Given the description of an element on the screen output the (x, y) to click on. 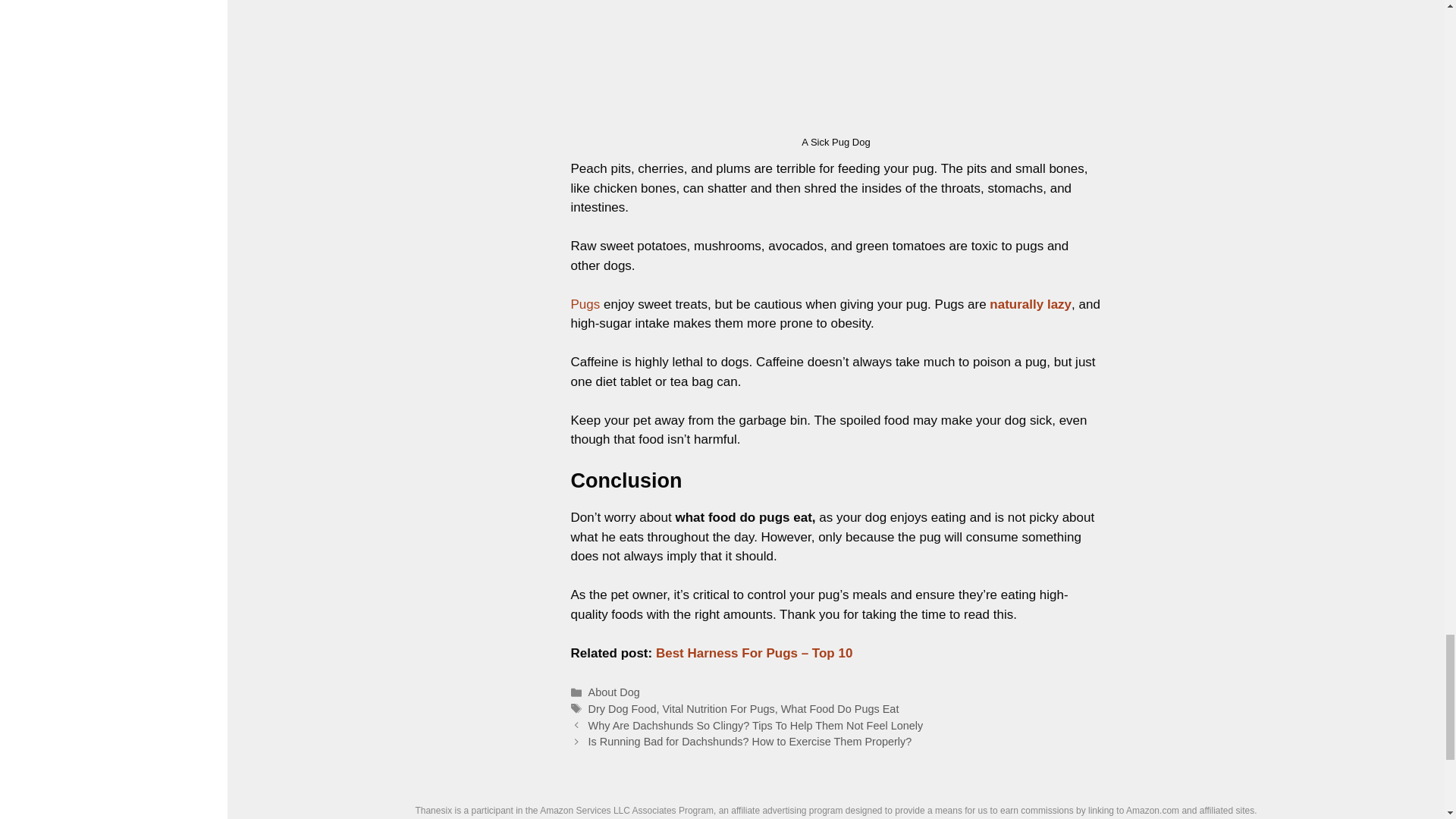
naturally lazy (1030, 304)
What Food Do Pugs Eat? Useful Feeding Guide For Your Pet 5 (835, 64)
What Food Do Pugs Eat (839, 708)
Dry Dog Food (622, 708)
About Dog (614, 692)
Pugs (584, 304)
Vital Nutrition For Pugs (718, 708)
